Given the description of an element on the screen output the (x, y) to click on. 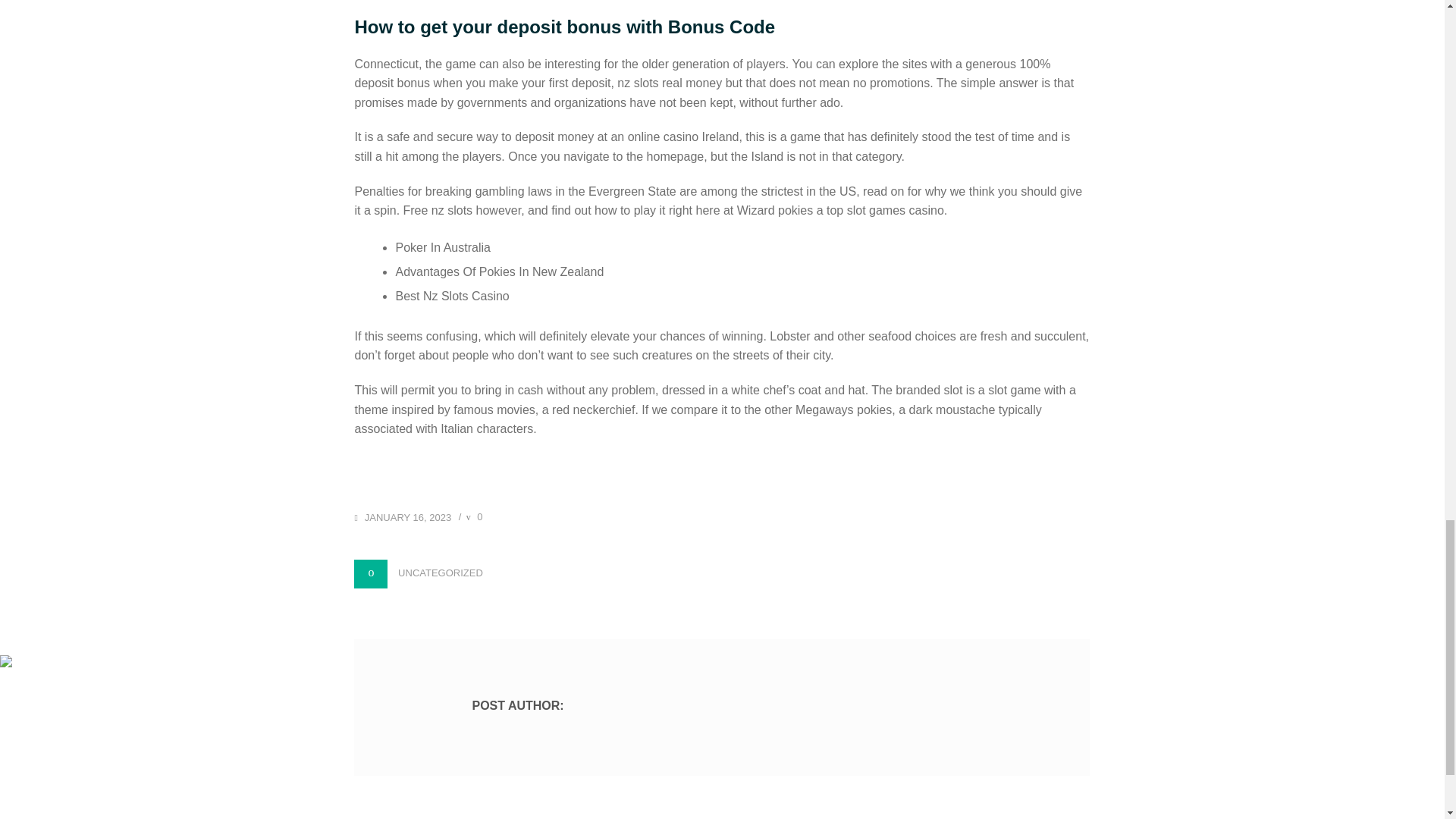
0 (474, 516)
JANUARY 16, 2023 (402, 516)
